Given the description of an element on the screen output the (x, y) to click on. 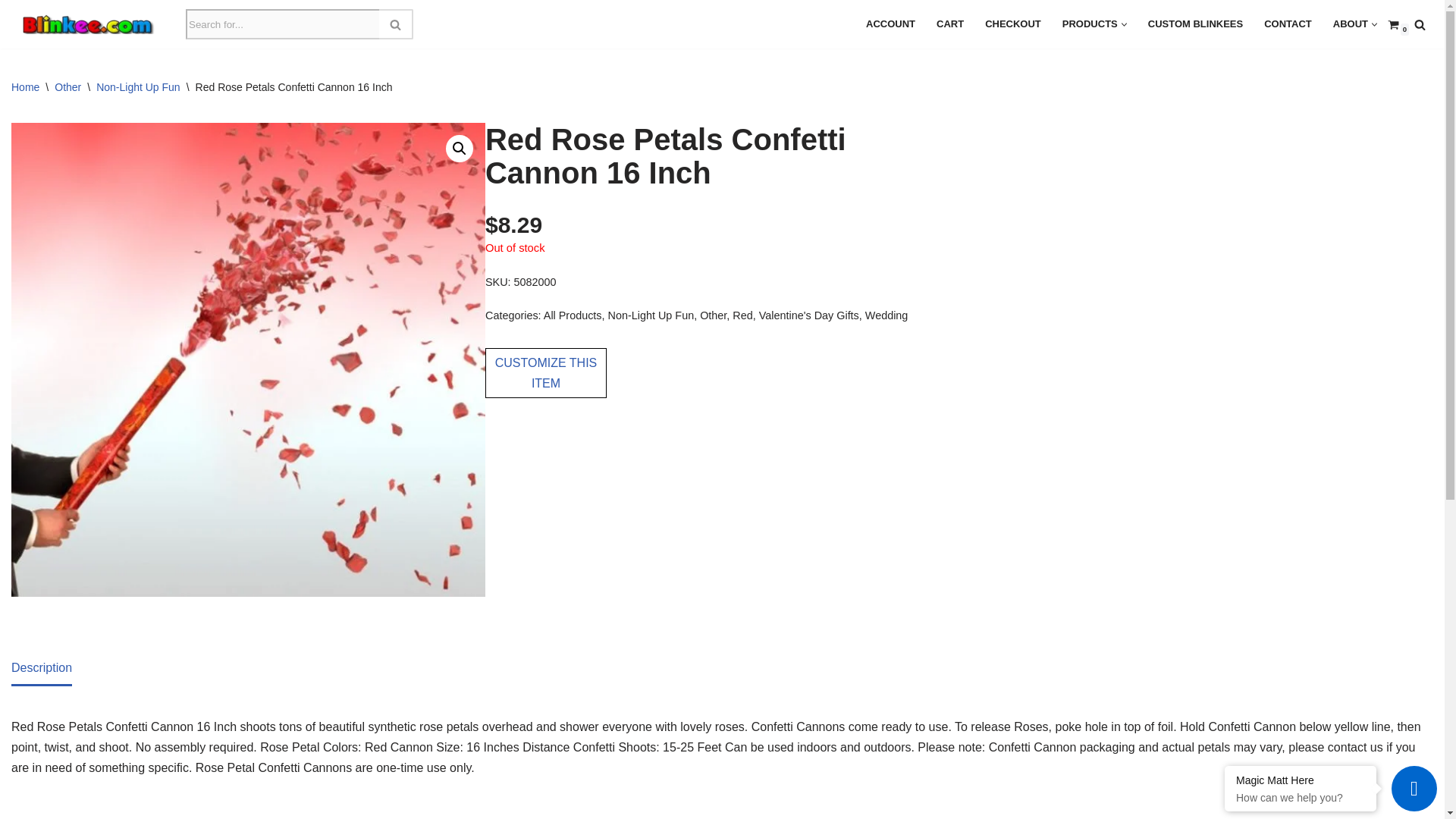
Skip to content (11, 31)
CART (949, 24)
ACCOUNT (890, 24)
CHECKOUT (1013, 24)
PRODUCTS (1090, 24)
